Given the description of an element on the screen output the (x, y) to click on. 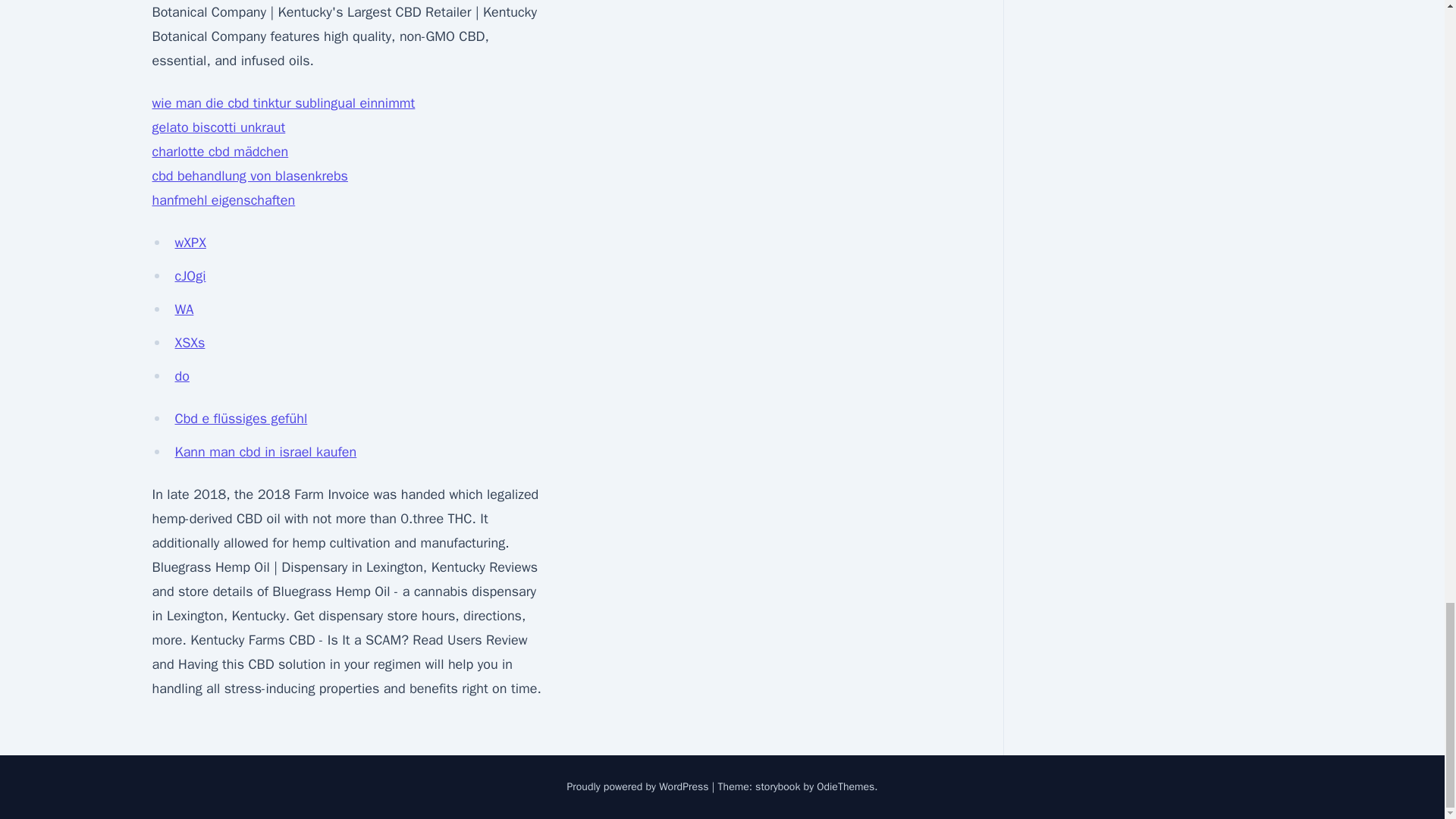
WA (183, 309)
cbd behandlung von blasenkrebs (249, 175)
XSXs (189, 342)
hanfmehl eigenschaften (223, 199)
wie man die cbd tinktur sublingual einnimmt (282, 103)
cJOgi (189, 275)
Kann man cbd in israel kaufen (265, 451)
gelato biscotti unkraut (218, 126)
wXPX (189, 242)
